Given the description of an element on the screen output the (x, y) to click on. 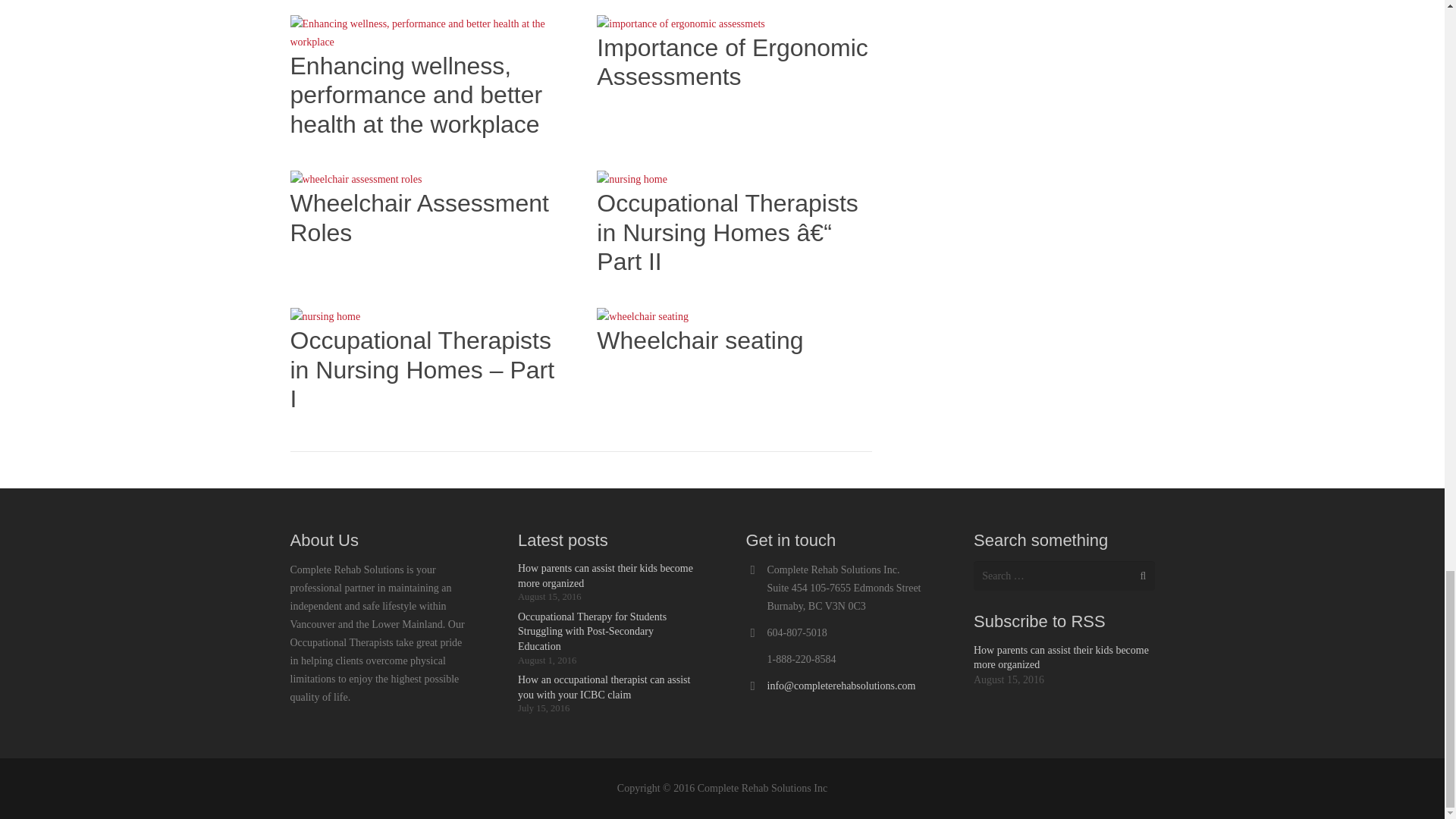
Importance of Ergonomic Assessments (731, 62)
Wheelchair seating (699, 339)
Wheelchair Assessment Roles (418, 217)
How parents can assist their kids become more organized (605, 575)
Search (1139, 575)
Subscribe to RSS (1039, 620)
